Given the description of an element on the screen output the (x, y) to click on. 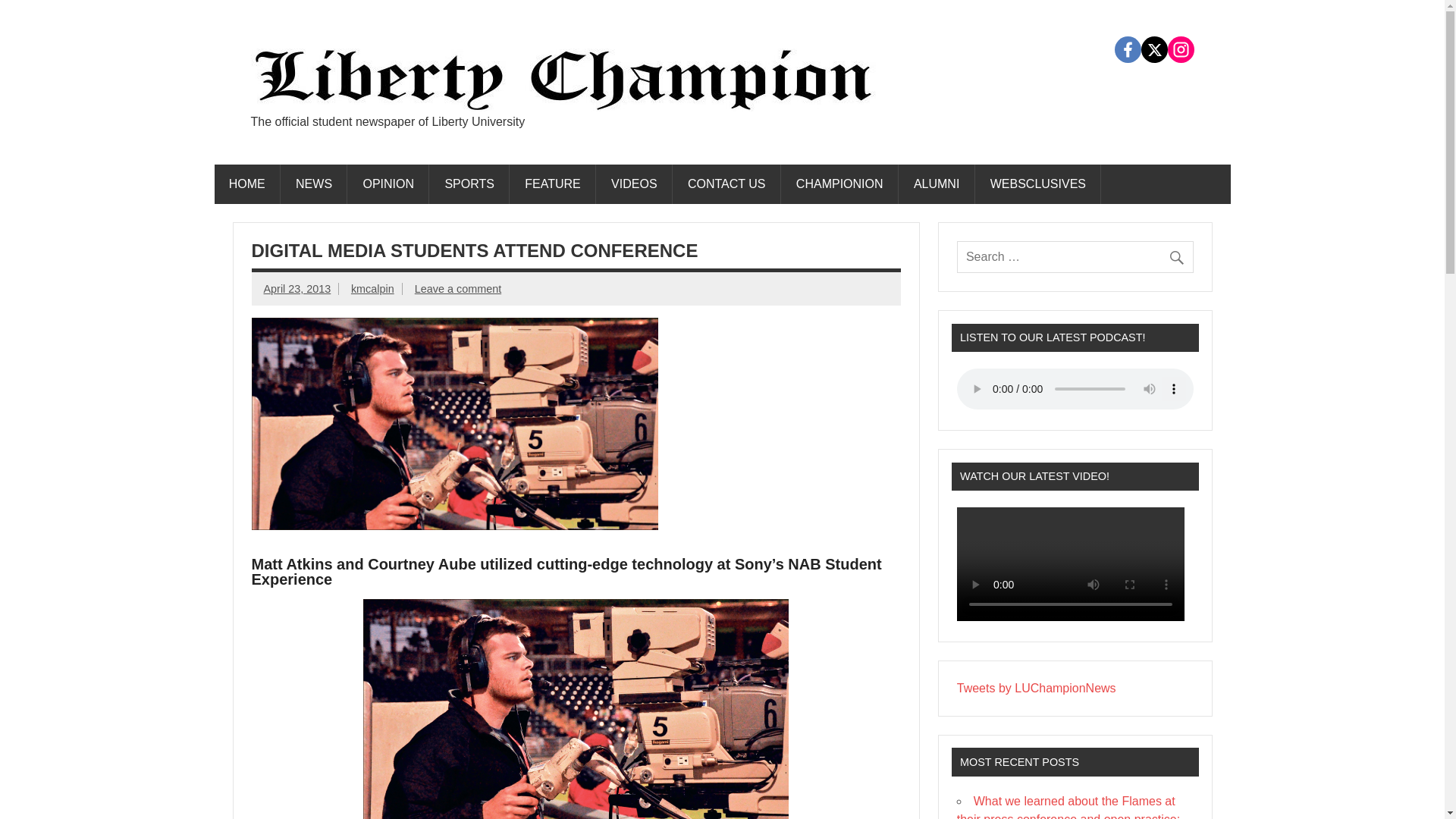
CHAMPIONION (839, 183)
April 23, 2013 (297, 288)
HOME (246, 183)
SPORTS (469, 183)
3:39 pm (297, 288)
Untitled-6 (575, 708)
Tweets by LUChampionNews (1036, 687)
OPINION (388, 183)
Facebook (1128, 49)
View all posts by kmcalpin (372, 288)
